Given the description of an element on the screen output the (x, y) to click on. 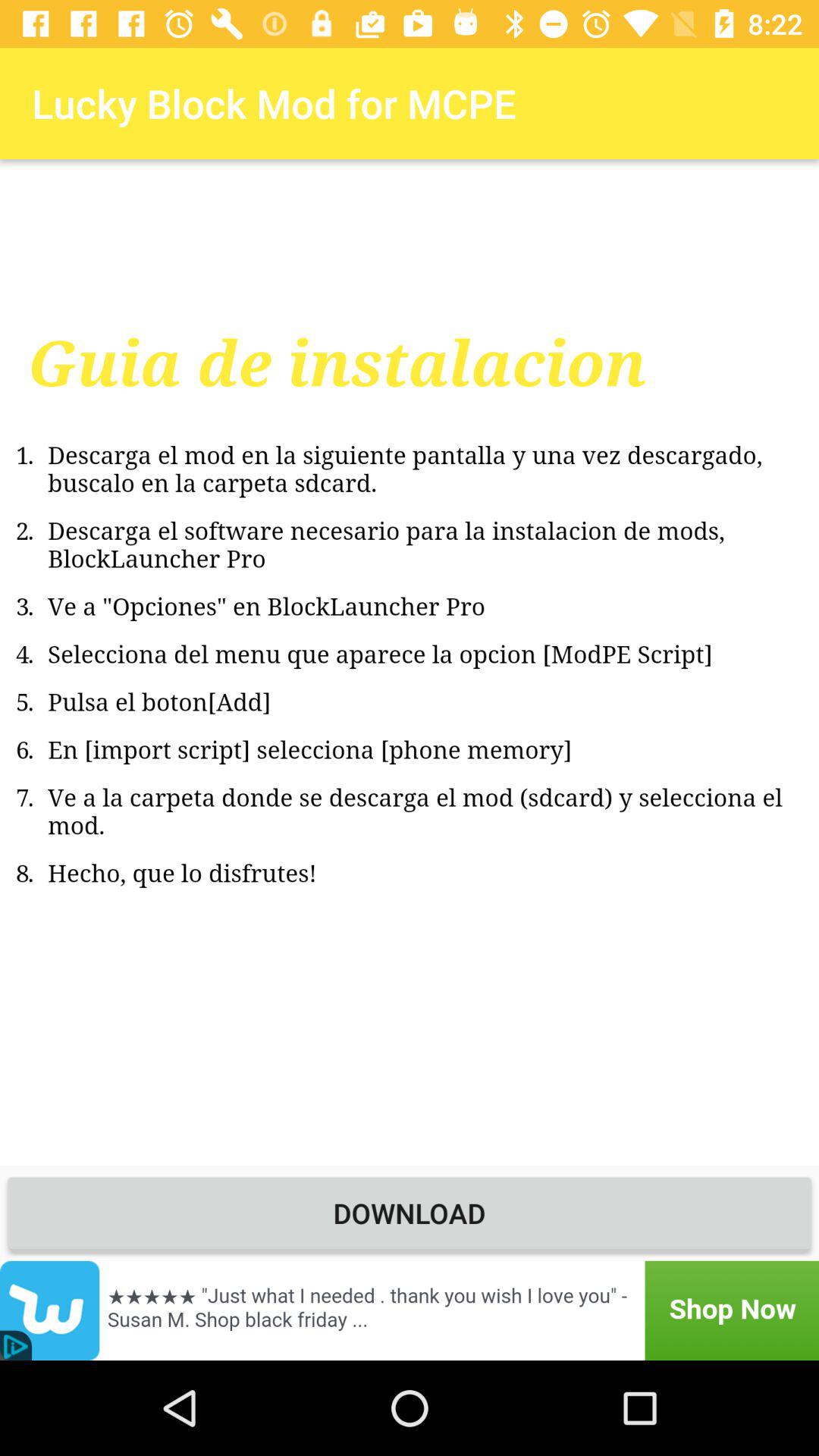
view advertisement (409, 1310)
